Given the description of an element on the screen output the (x, y) to click on. 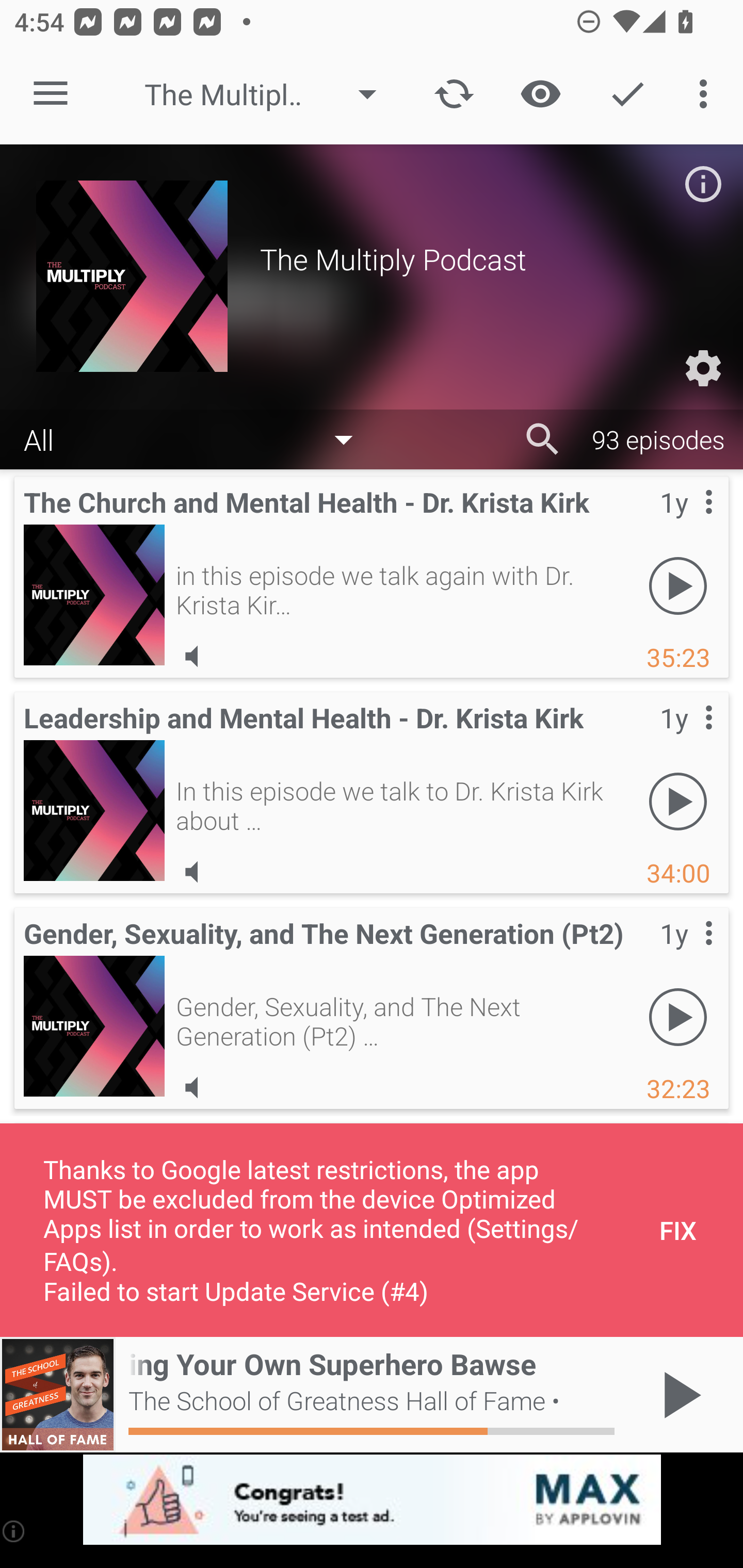
Open navigation sidebar (50, 93)
Update (453, 93)
Show / Hide played content (540, 93)
Action Mode (626, 93)
More options (706, 93)
The Multiply Podcast (270, 94)
Podcast description (703, 184)
Custom Settings (703, 368)
Search (542, 439)
All (197, 438)
Contextual menu (685, 522)
The Church and Mental Health - Dr. Krista Kirk (93, 594)
Play (677, 585)
Contextual menu (685, 738)
Leadership and Mental Health - Dr. Krista Kirk (93, 810)
Play (677, 801)
Contextual menu (685, 954)
Gender, Sexuality, and The Next Generation (Pt2) (93, 1026)
Play (677, 1016)
FIX (677, 1229)
Play / Pause (677, 1394)
app-monetization (371, 1500)
(i) (14, 1531)
